Given the description of an element on the screen output the (x, y) to click on. 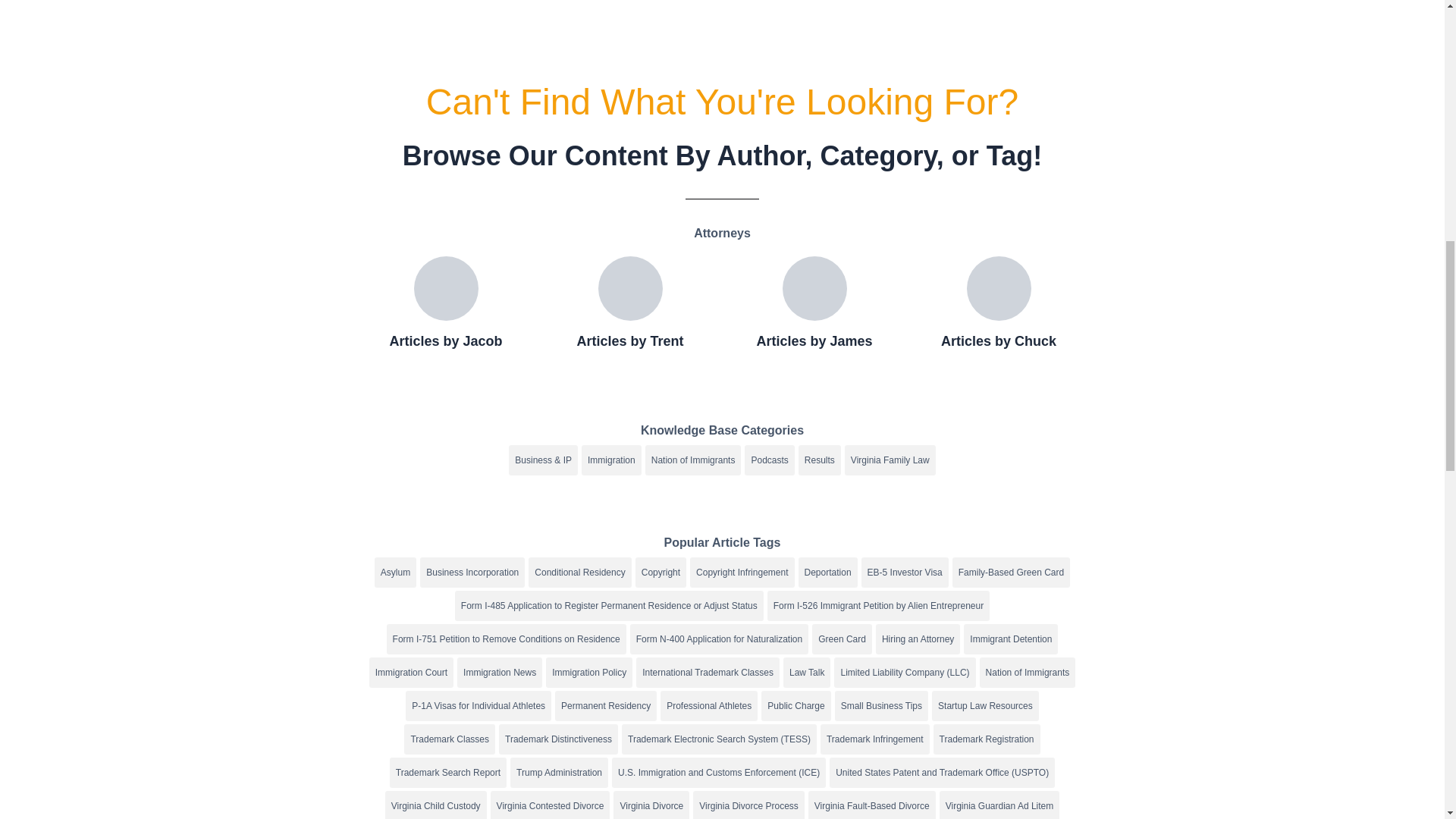
Nation of Immigrants (693, 460)
Immigration (611, 460)
Podcasts (768, 460)
Virginia Family Law (890, 460)
Results (819, 460)
Business Incorporation (472, 572)
Articles by James (813, 340)
Asylum (395, 572)
Chuck-Squared-Image.jpg (998, 288)
Articles by Trent (629, 340)
Articles by Chuck (998, 340)
Articles by Jacob (445, 340)
